Given the description of an element on the screen output the (x, y) to click on. 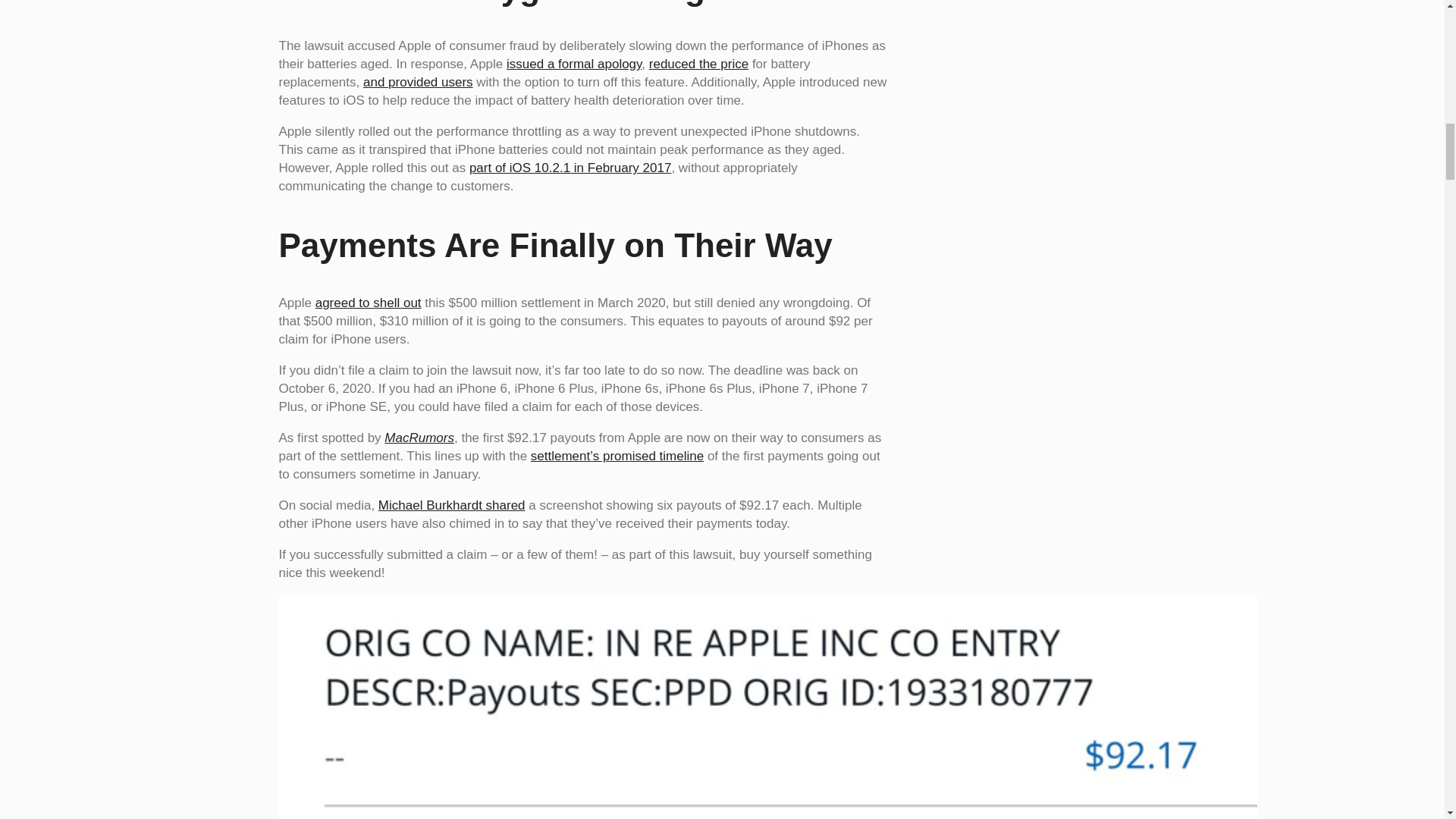
part of iOS 10.2.1 in February 2017 (569, 167)
MacRumors (419, 437)
and provided users (417, 82)
Michael Burkhardt shared (451, 504)
agreed to shell out (368, 302)
issued a formal apology (574, 63)
reduced the price (698, 63)
